Given the description of an element on the screen output the (x, y) to click on. 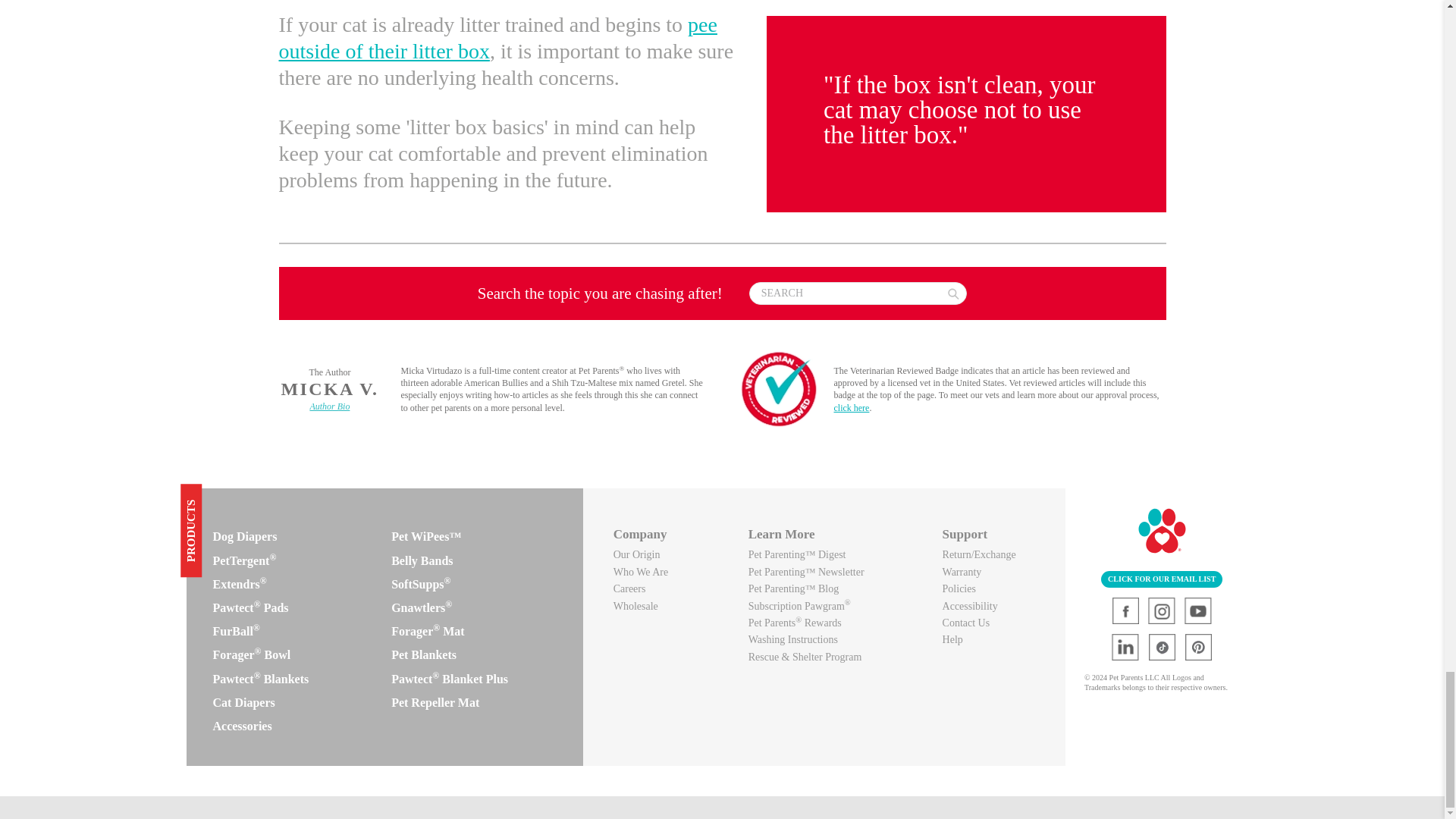
LinkedIn (1125, 646)
Facebook (1125, 610)
TikTok (1161, 646)
Why Cats Pee Outside of Their Litter Box (498, 38)
Instagram (1161, 610)
Pinterest (1198, 646)
Youtube (1198, 610)
